Given the description of an element on the screen output the (x, y) to click on. 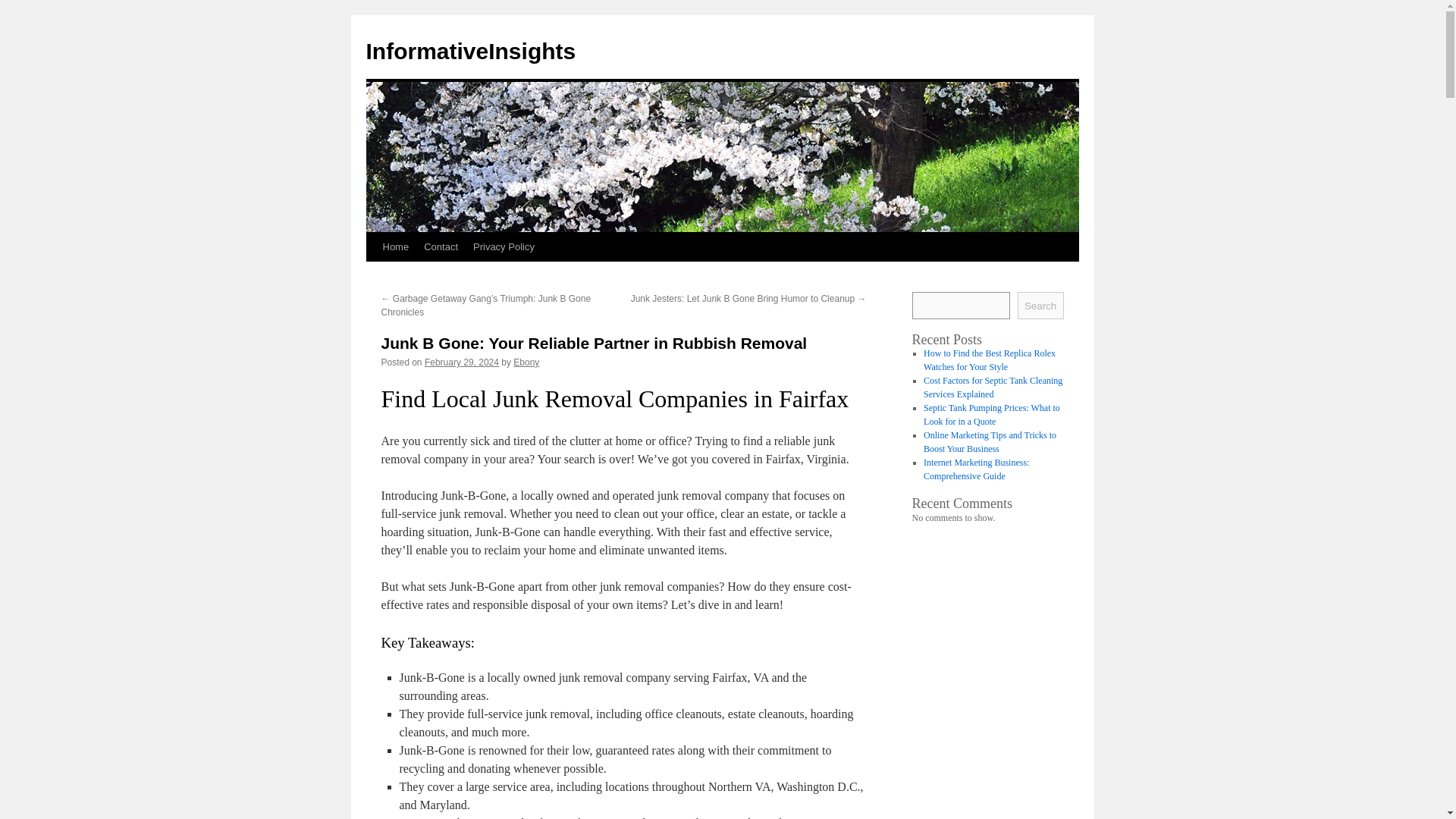
Home (395, 246)
Contact (440, 246)
Septic Tank Pumping Prices: What to Look for in a Quote (991, 414)
InformativeInsights (470, 50)
Cost Factors for Septic Tank Cleaning Services Explained (992, 387)
Internet Marketing Business: Comprehensive Guide (976, 469)
11:00 pm (462, 362)
View all posts by Ebony (525, 362)
How to Find the Best Replica Rolex Watches for Your Style (989, 360)
Ebony (525, 362)
